Given the description of an element on the screen output the (x, y) to click on. 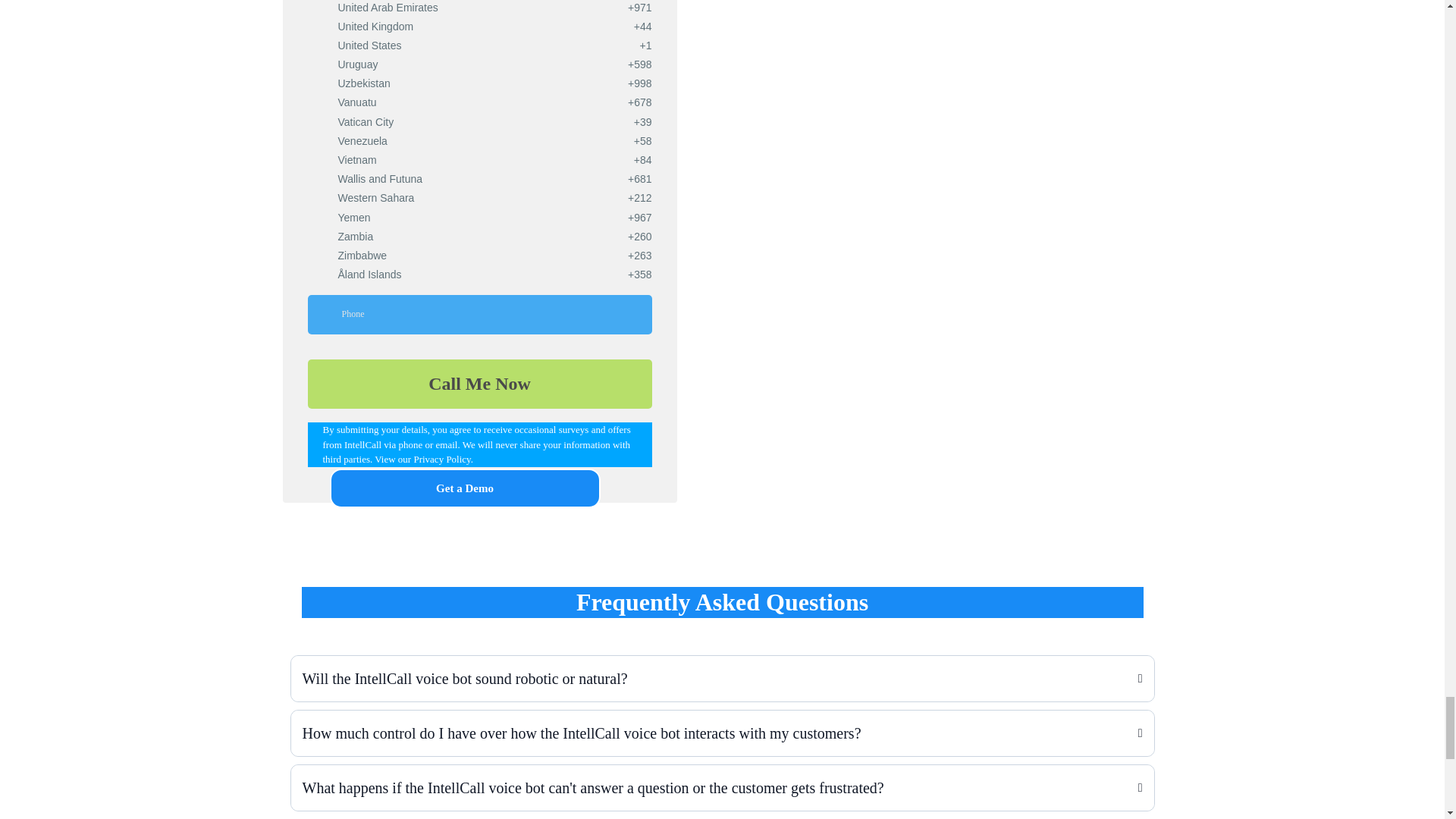
Call Me Now (479, 383)
Get a Demo (464, 487)
